Given the description of an element on the screen output the (x, y) to click on. 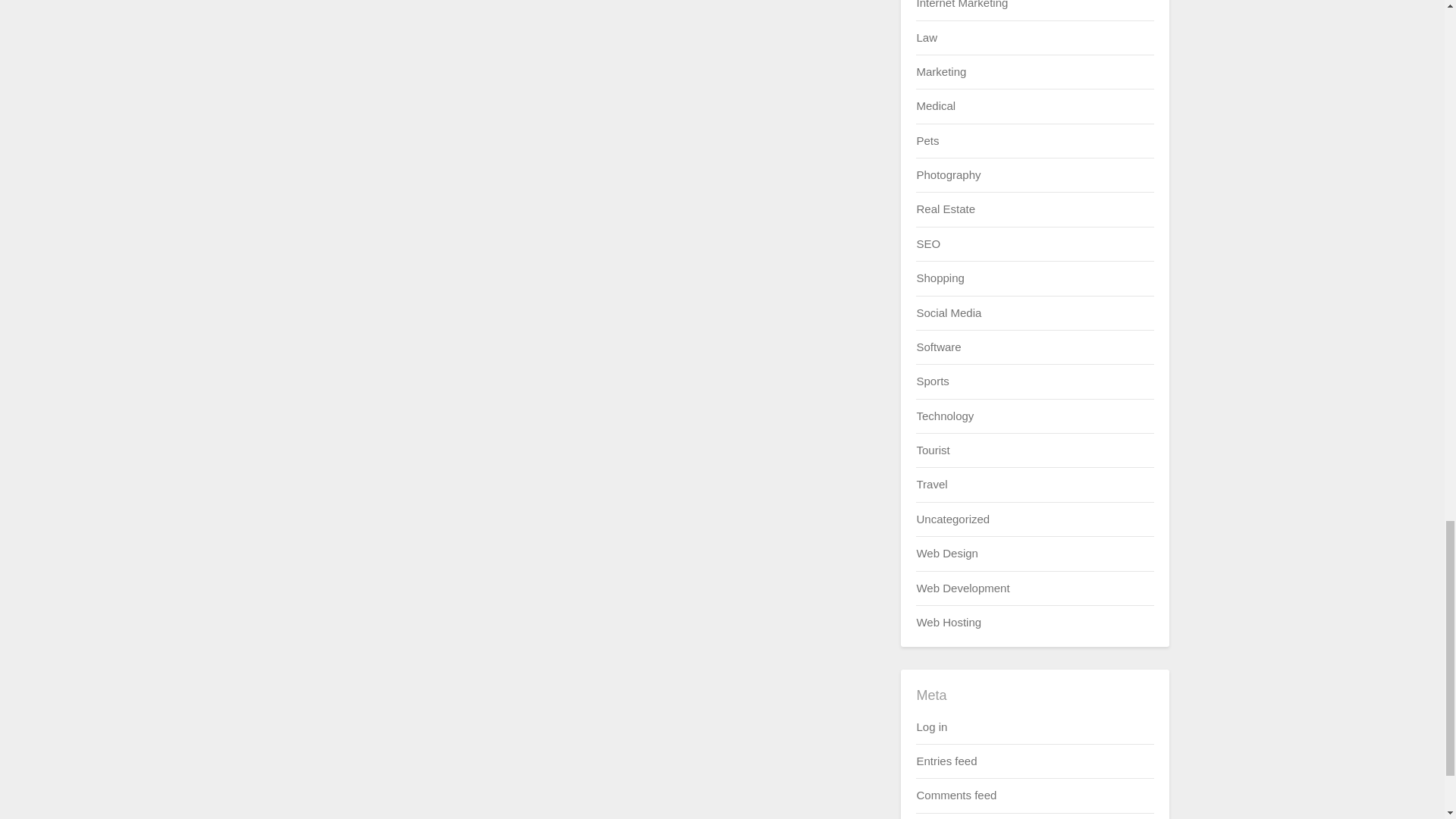
Internet Marketing (961, 4)
Law (926, 37)
Medical (935, 105)
Marketing (940, 71)
